Given the description of an element on the screen output the (x, y) to click on. 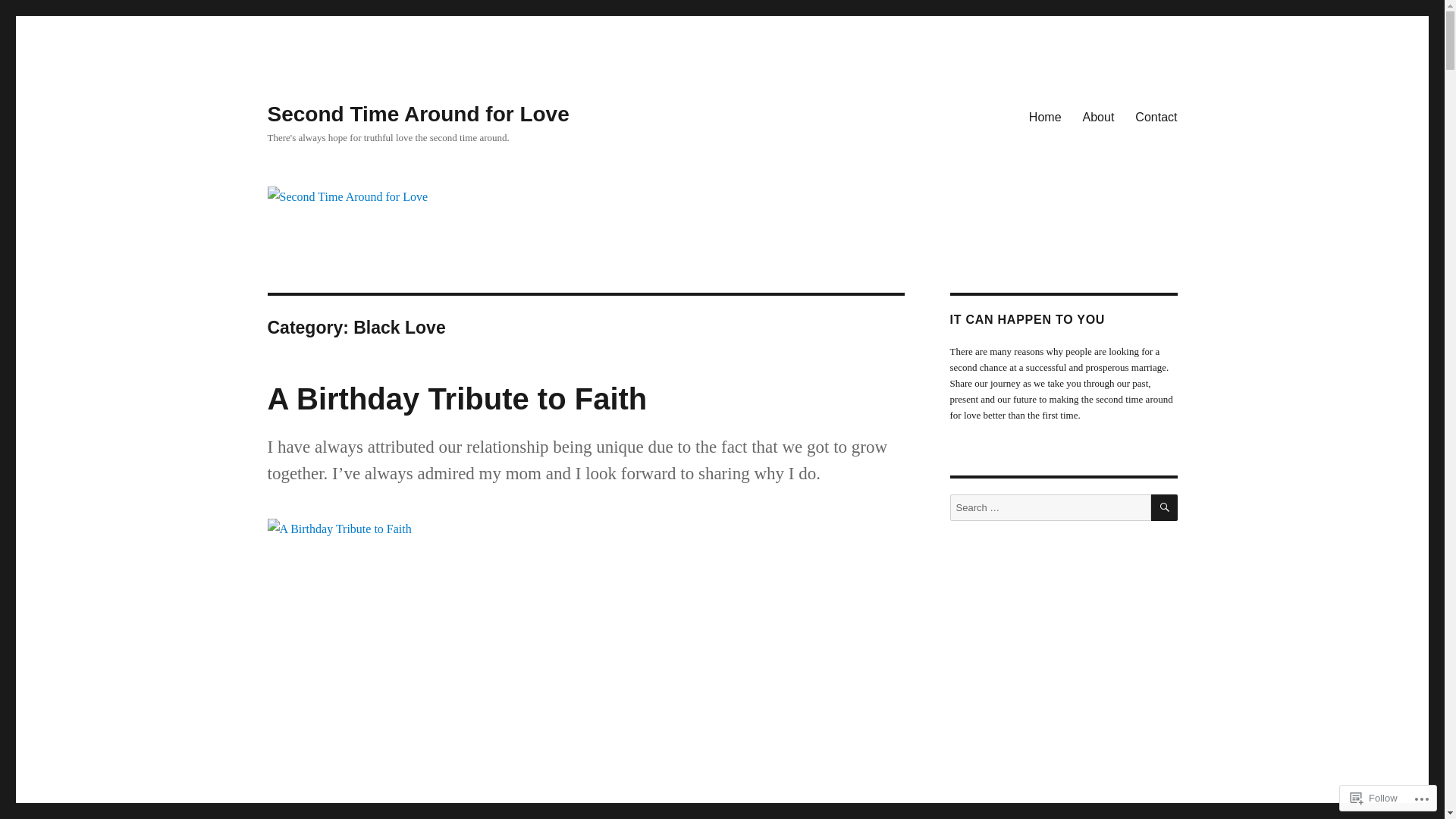
Follow Element type: text (1373, 797)
About Element type: text (1098, 116)
A Birthday Tribute to Faith Element type: text (456, 398)
Second Time Around for Love Element type: text (417, 113)
Home Element type: text (1045, 116)
Contact Element type: text (1155, 116)
